Given the description of an element on the screen output the (x, y) to click on. 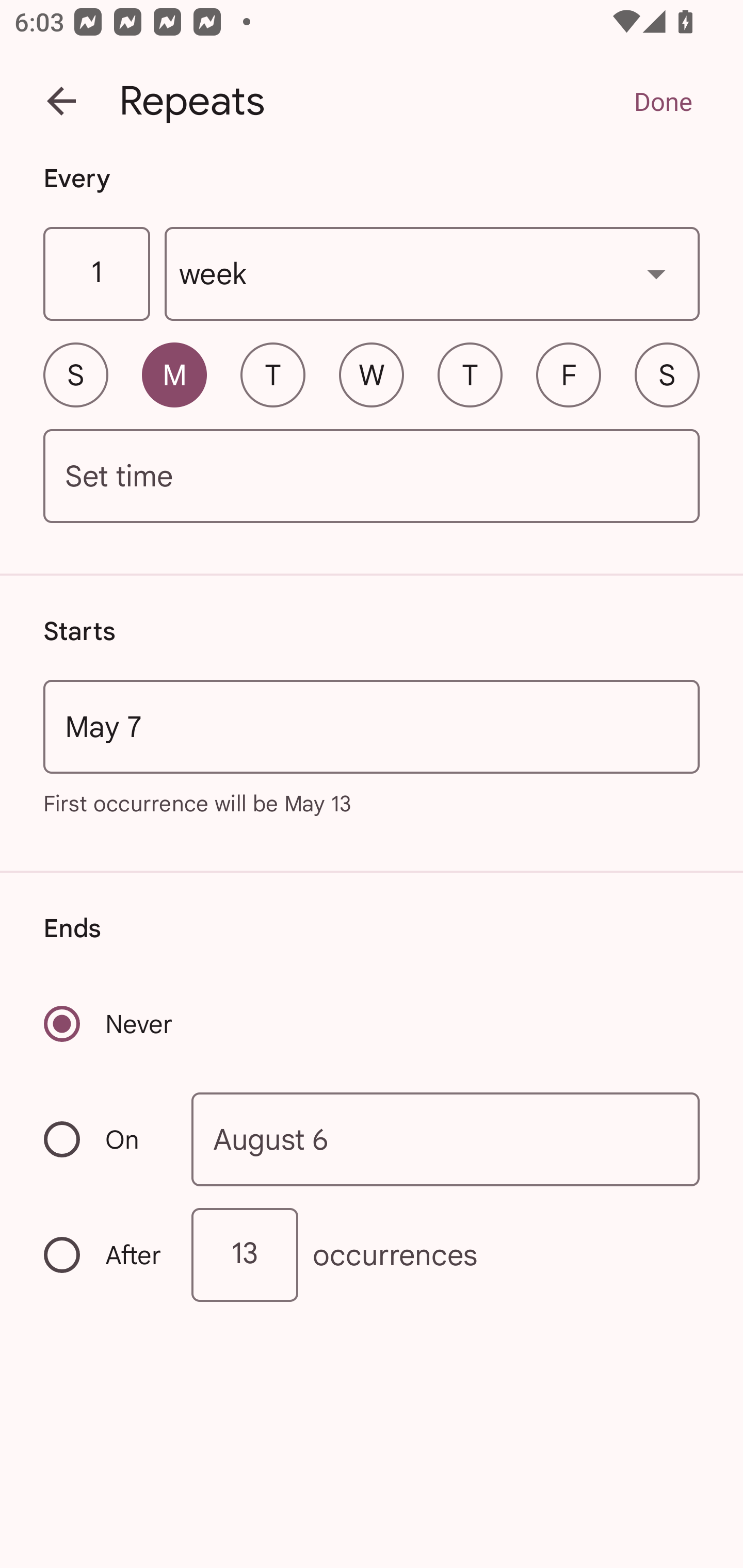
Back (61, 101)
Done (663, 101)
1 (96, 274)
week (431, 274)
Show dropdown menu (655, 273)
S Sunday (75, 374)
M Monday, selected (173, 374)
T Tuesday (272, 374)
W Wednesday (371, 374)
T Thursday (469, 374)
F Friday (568, 374)
S Saturday (666, 374)
Set time (371, 476)
May 7 (371, 726)
Never Recurrence never ends (109, 1023)
August 6 (445, 1139)
On Recurrence ends on a specific date (104, 1138)
13 (244, 1254)
